Given the description of an element on the screen output the (x, y) to click on. 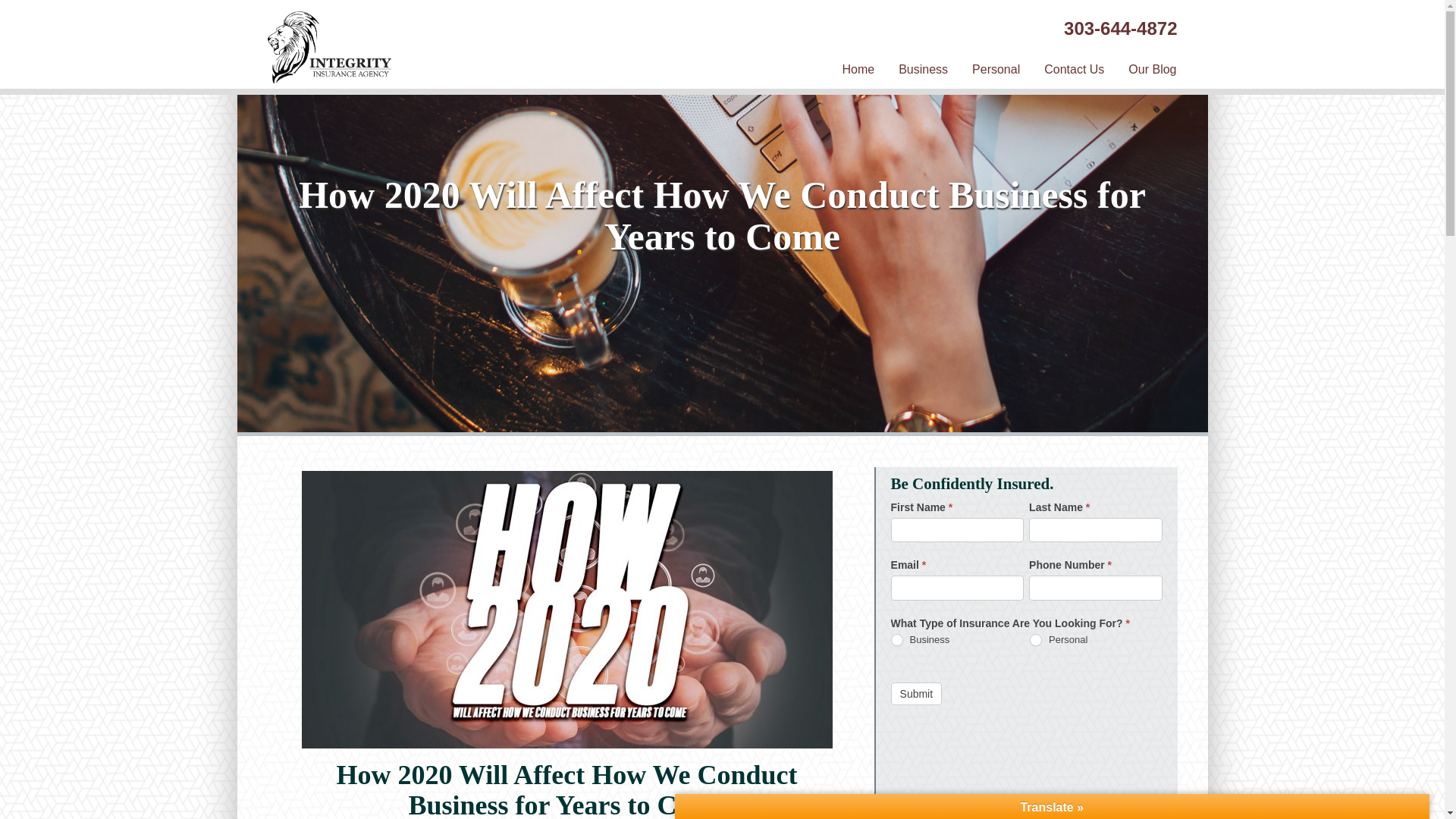
Contact Us (1074, 69)
Business (922, 69)
303-644-4872 (1120, 28)
Business (896, 639)
Personal (1035, 639)
Home (857, 69)
Our Blog (1152, 69)
Submit (916, 693)
Personal (995, 69)
